Given the description of an element on the screen output the (x, y) to click on. 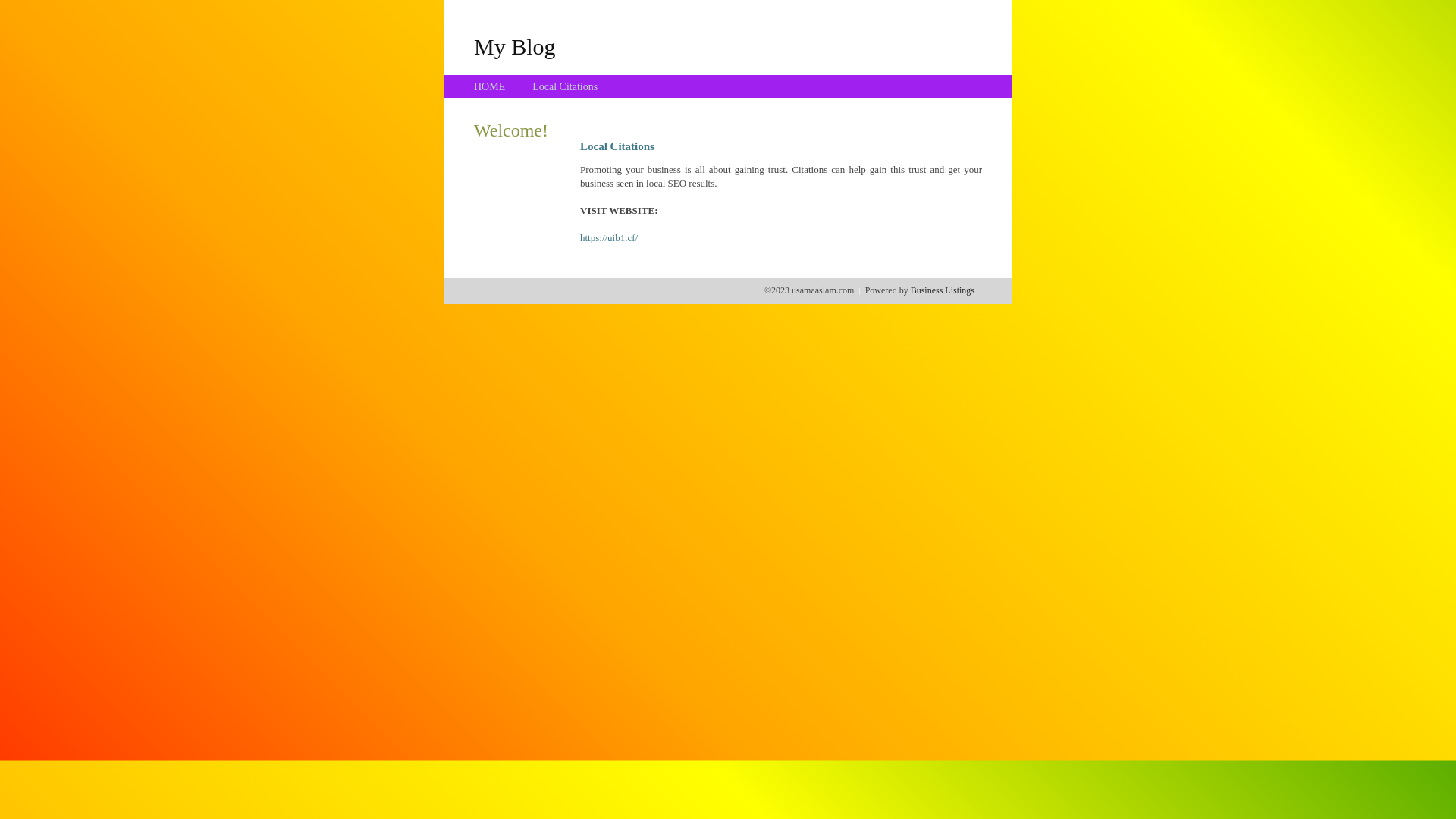
Business Listings Element type: text (942, 290)
HOME Element type: text (489, 86)
My Blog Element type: text (514, 46)
Local Citations Element type: text (564, 86)
https://uib1.cf/ Element type: text (608, 237)
